Given the description of an element on the screen output the (x, y) to click on. 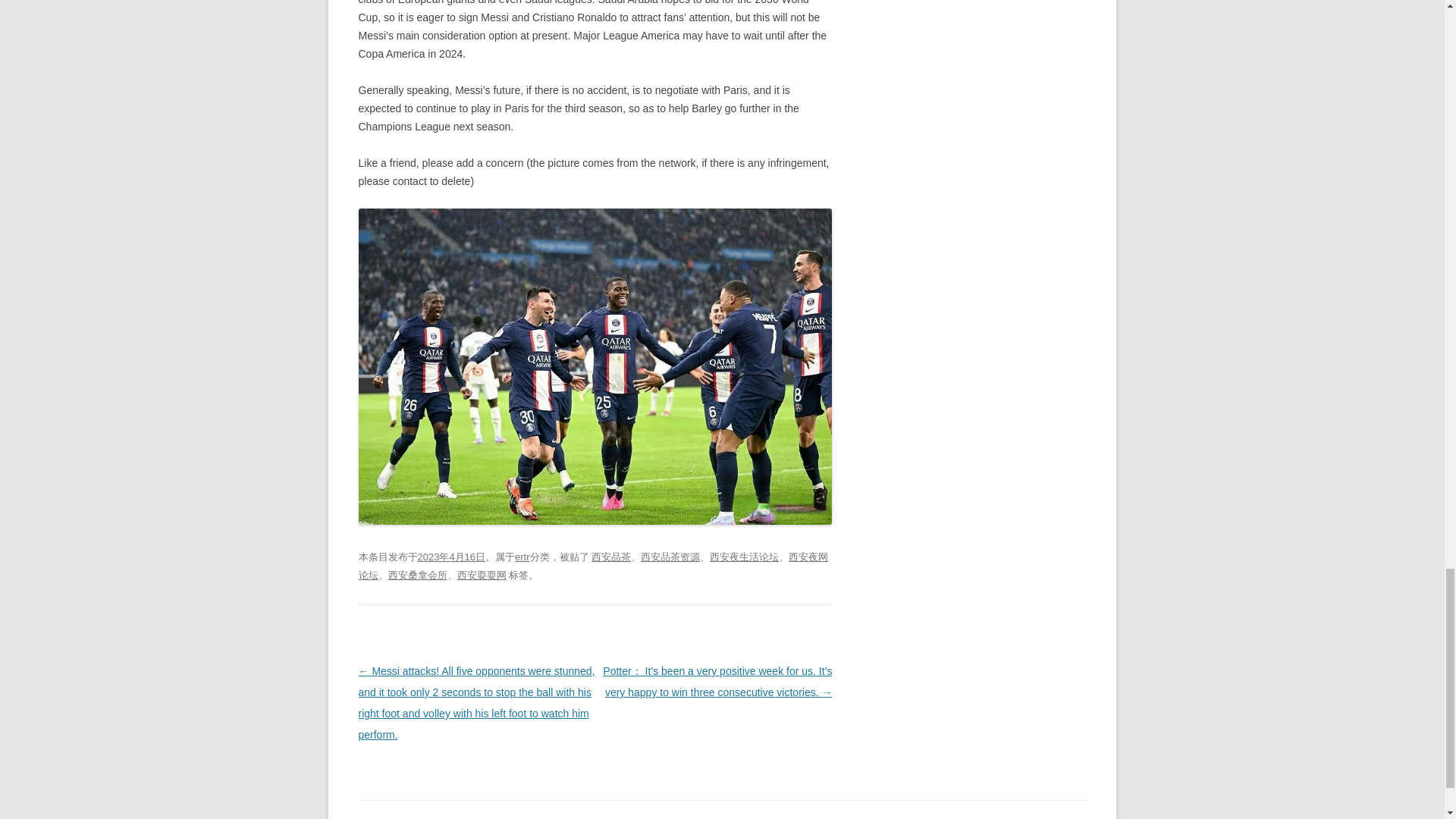
ertr (522, 556)
